Given the description of an element on the screen output the (x, y) to click on. 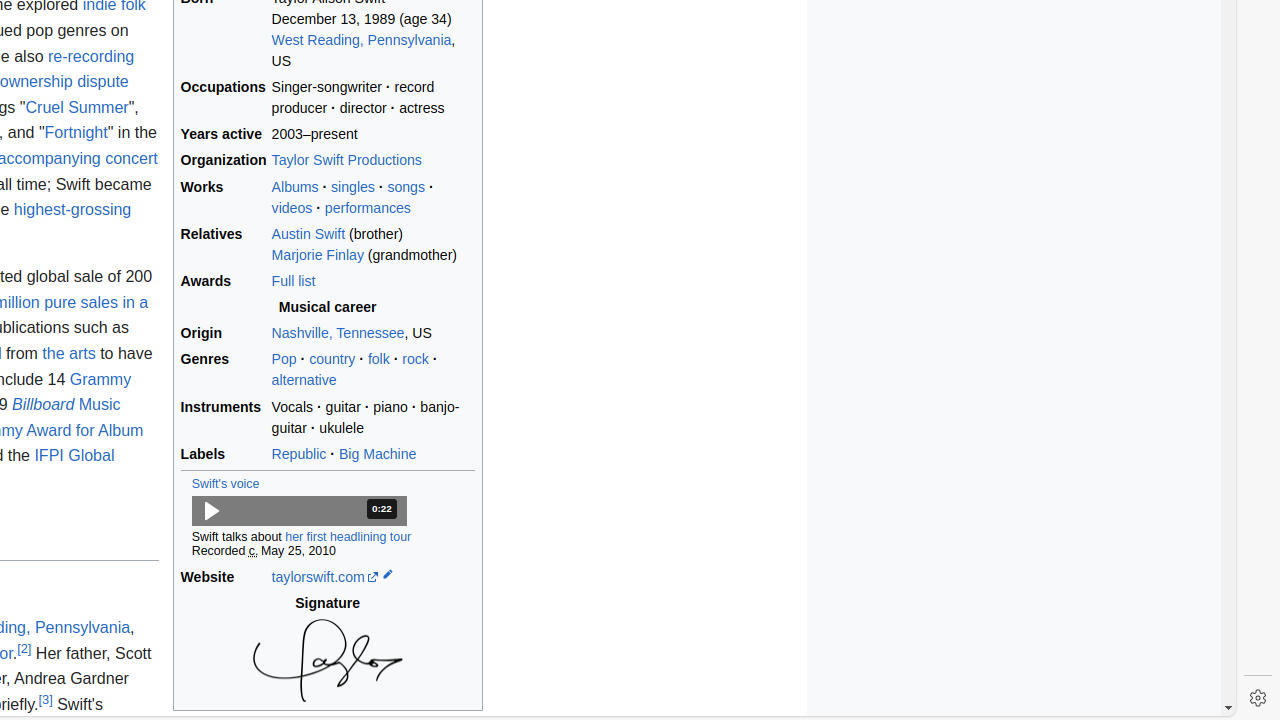
Austin Swift Element type: link (308, 233)
2003–present Element type: table-cell (373, 135)
Full list Element type: link (293, 281)
re-recording Element type: link (91, 56)
folk Element type: link (378, 359)
